Given the description of an element on the screen output the (x, y) to click on. 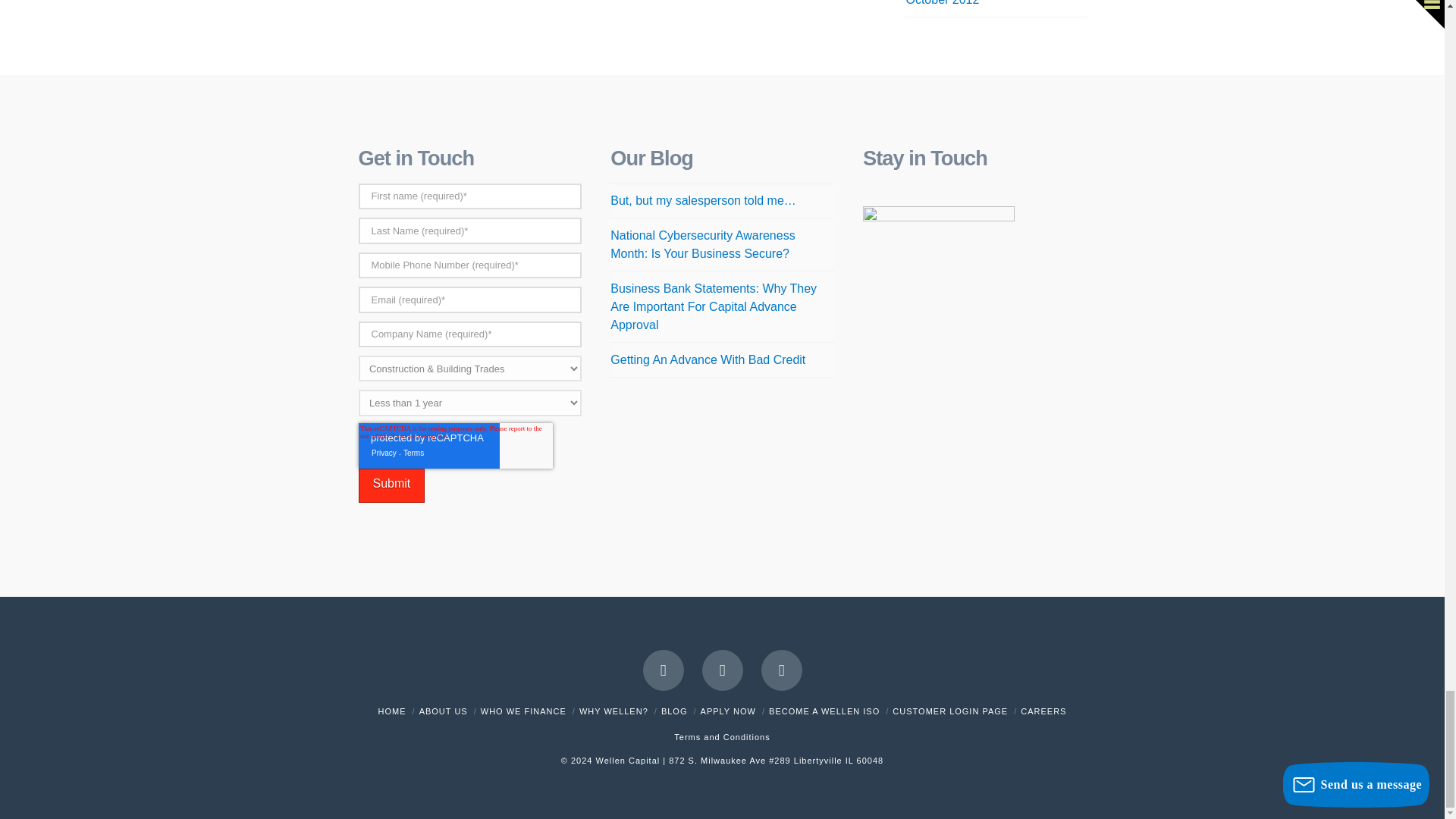
Submit (391, 485)
reCAPTCHA (454, 445)
Facebook (663, 670)
LinkedIn (781, 670)
